Given the description of an element on the screen output the (x, y) to click on. 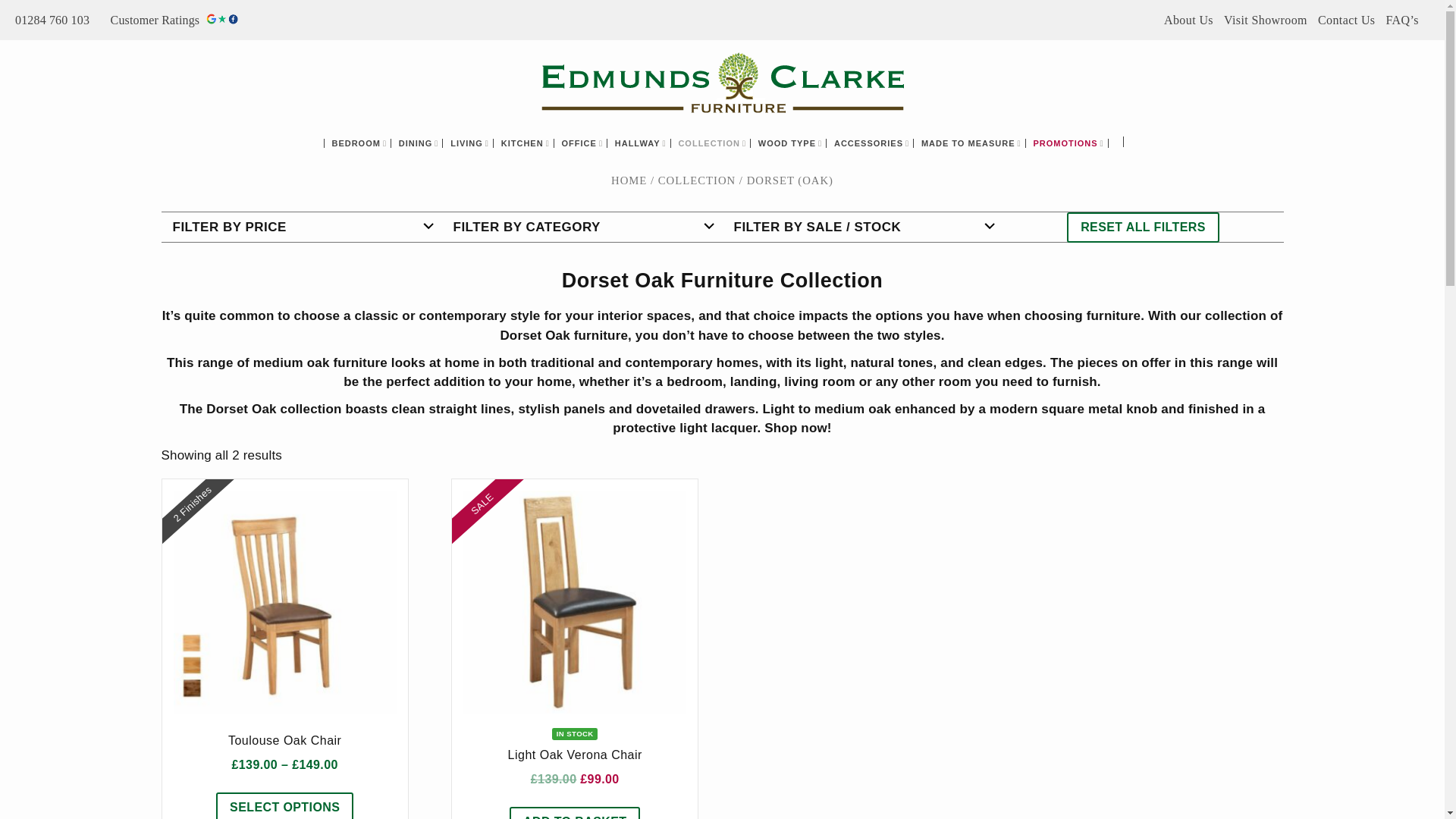
LIVING (471, 143)
Visit Showroom (1265, 19)
DINING (421, 143)
Contact Us (1346, 19)
About Us (1187, 19)
BEDROOM (360, 143)
Customer Ratings  (174, 19)
01284 760 103    (56, 19)
